Given the description of an element on the screen output the (x, y) to click on. 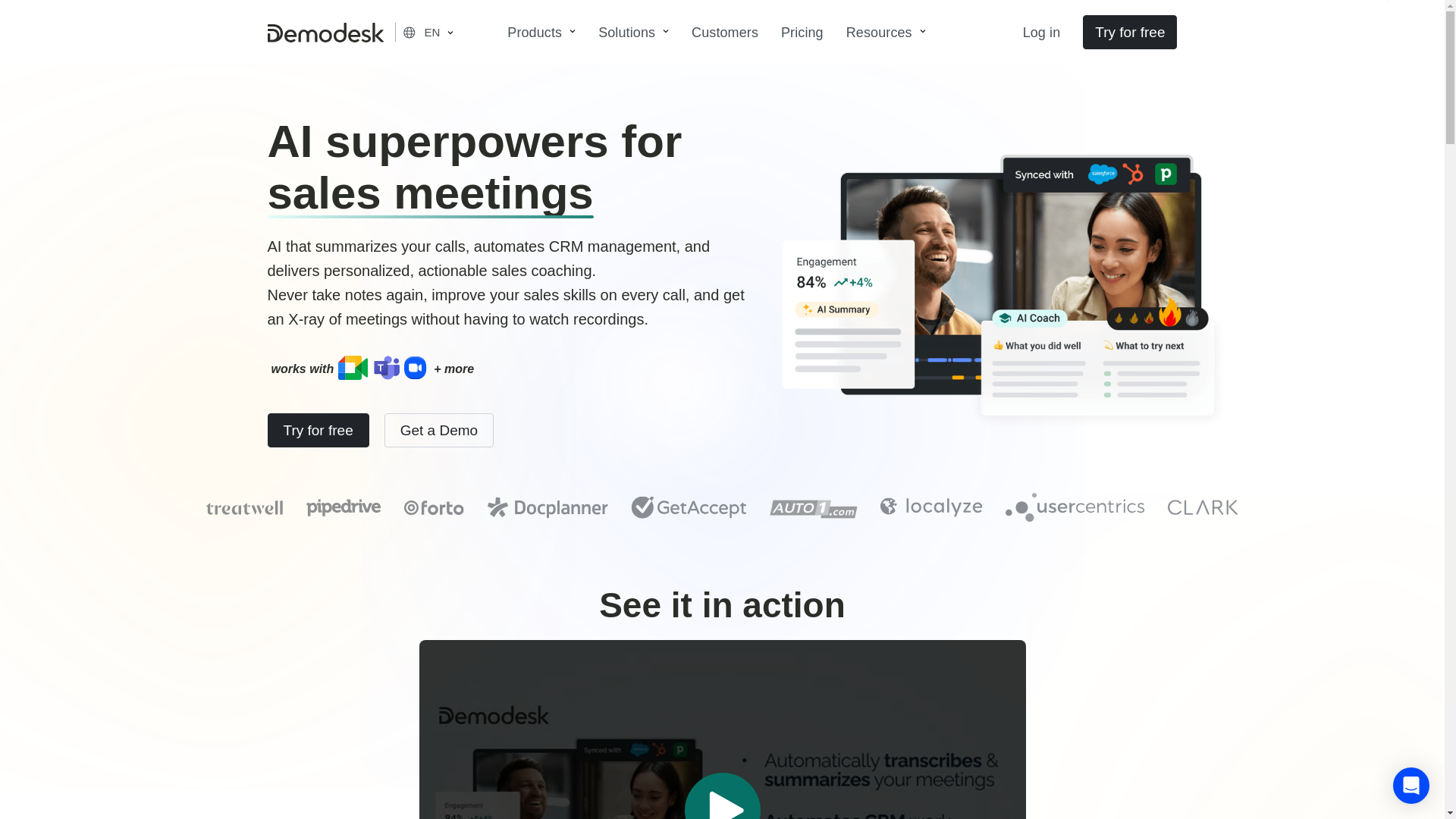
Try for free (1129, 32)
Customers (724, 31)
Log in (1048, 31)
Solutions (632, 31)
Pricing (802, 31)
